Given the description of an element on the screen output the (x, y) to click on. 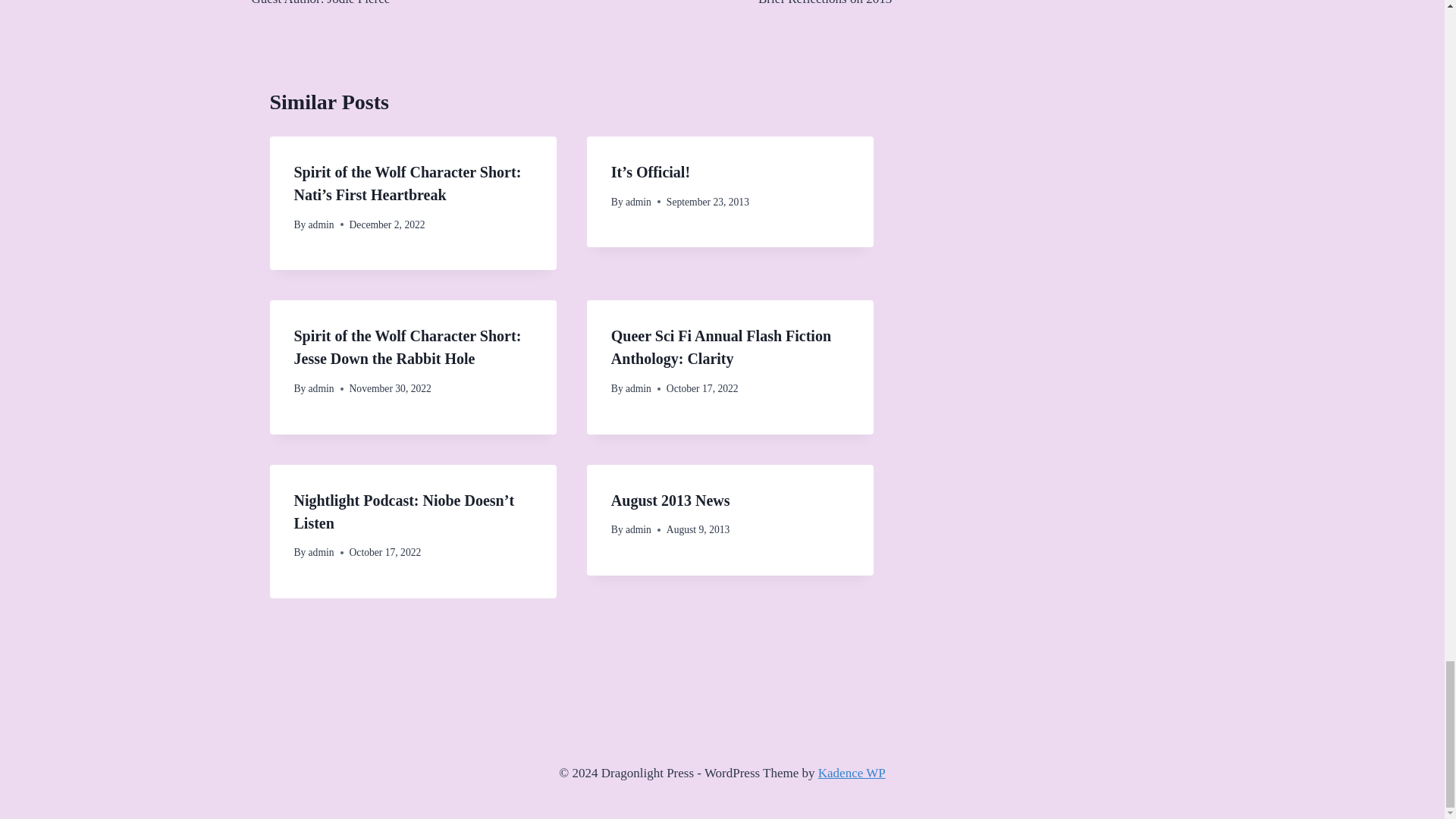
admin (411, 4)
admin (638, 202)
